Given the description of an element on the screen output the (x, y) to click on. 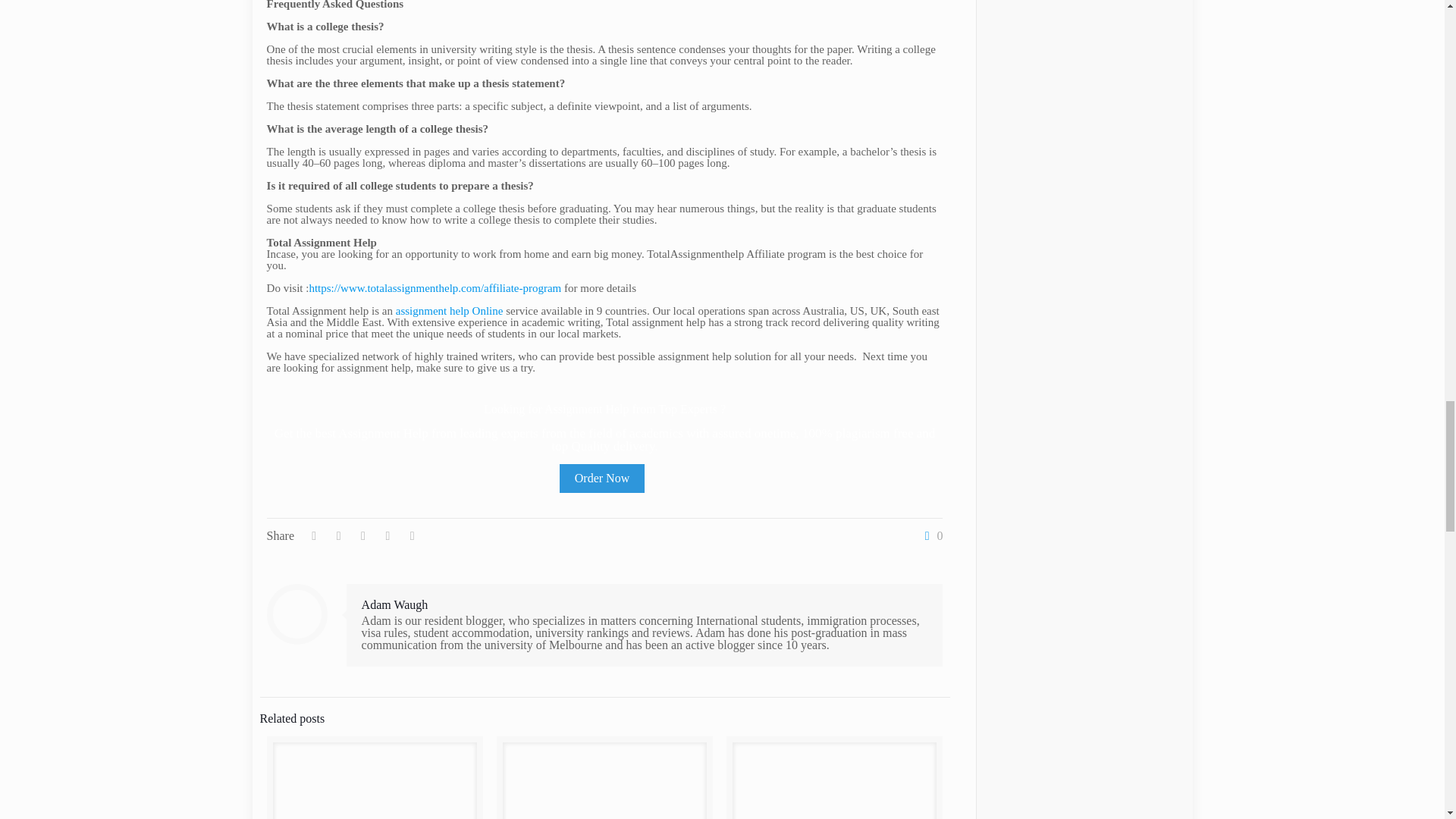
Adam Waugh (394, 604)
Order Now (602, 478)
0 (930, 535)
assignment help Online (449, 310)
